Given the description of an element on the screen output the (x, y) to click on. 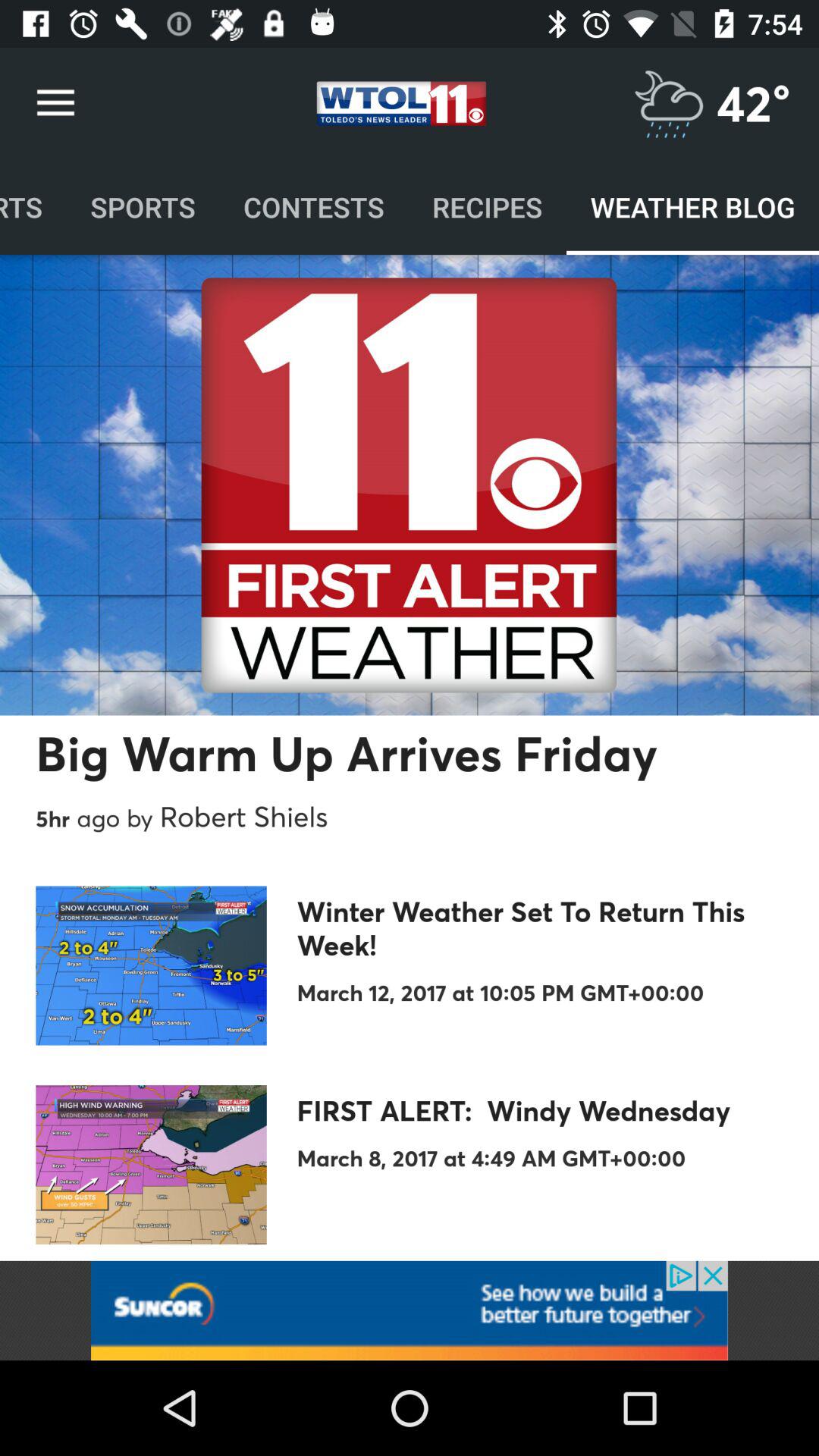
select the text which is right side of the more options button (400, 103)
